Given the description of an element on the screen output the (x, y) to click on. 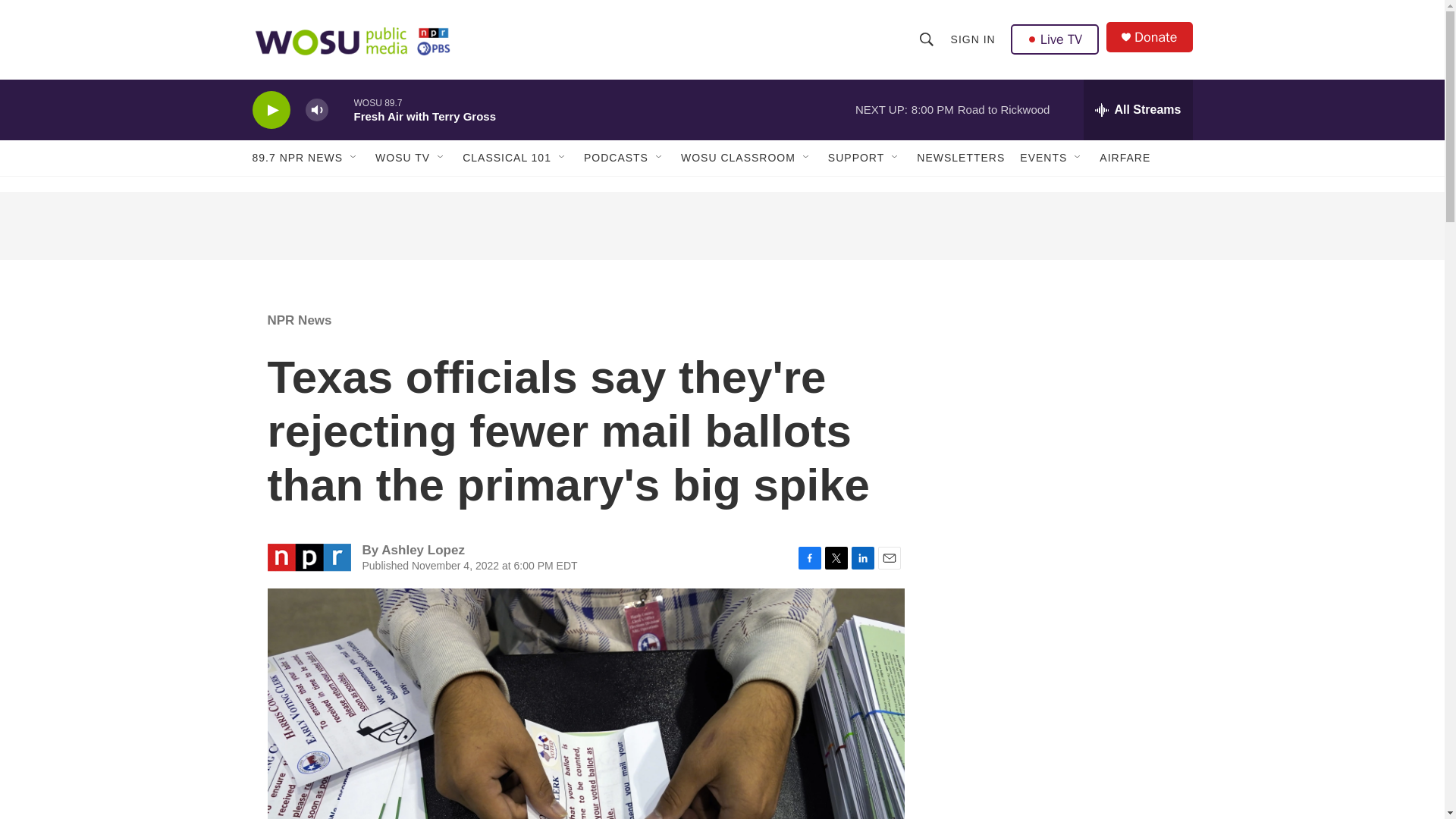
3rd party ad content (721, 225)
